Given the description of an element on the screen output the (x, y) to click on. 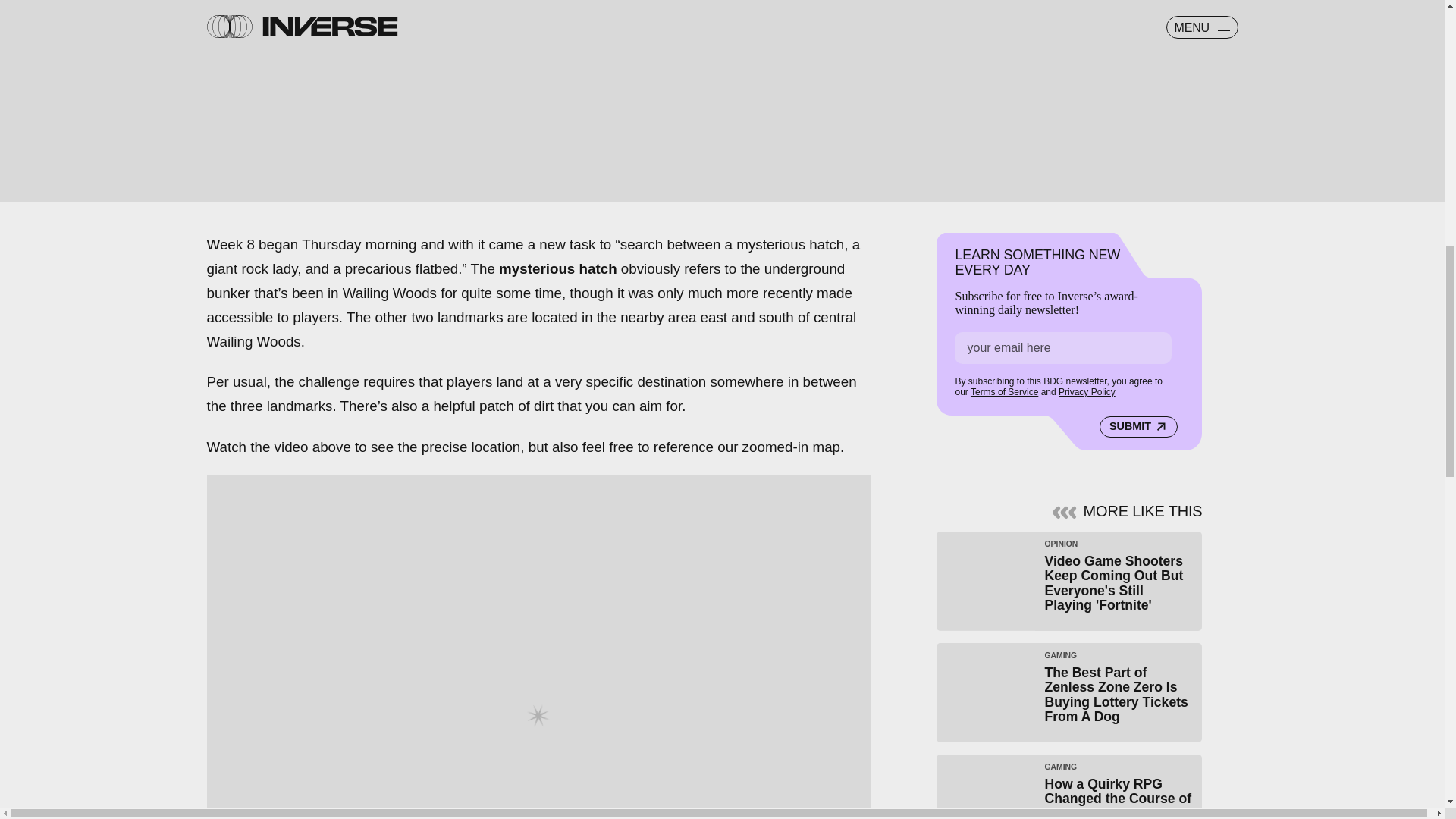
mysterious hatch (558, 268)
Terms of Service (1004, 389)
Privacy Policy (1086, 389)
SUBMIT (1138, 424)
